Given the description of an element on the screen output the (x, y) to click on. 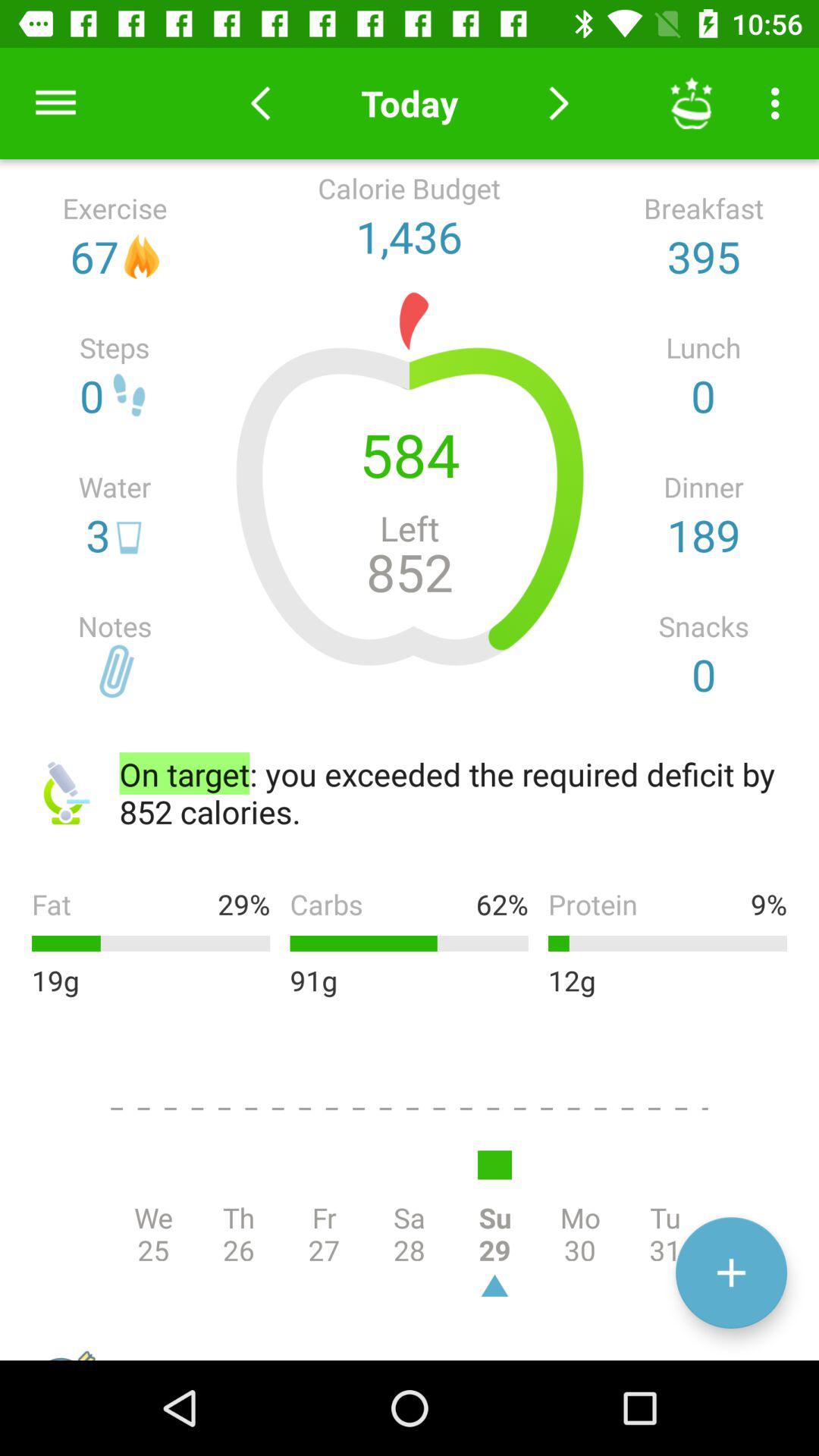
click on more settings icon (779, 103)
click on arrow symbol to the left side of today (260, 103)
click on arrow symbol to the right side of today (558, 103)
